Given the description of an element on the screen output the (x, y) to click on. 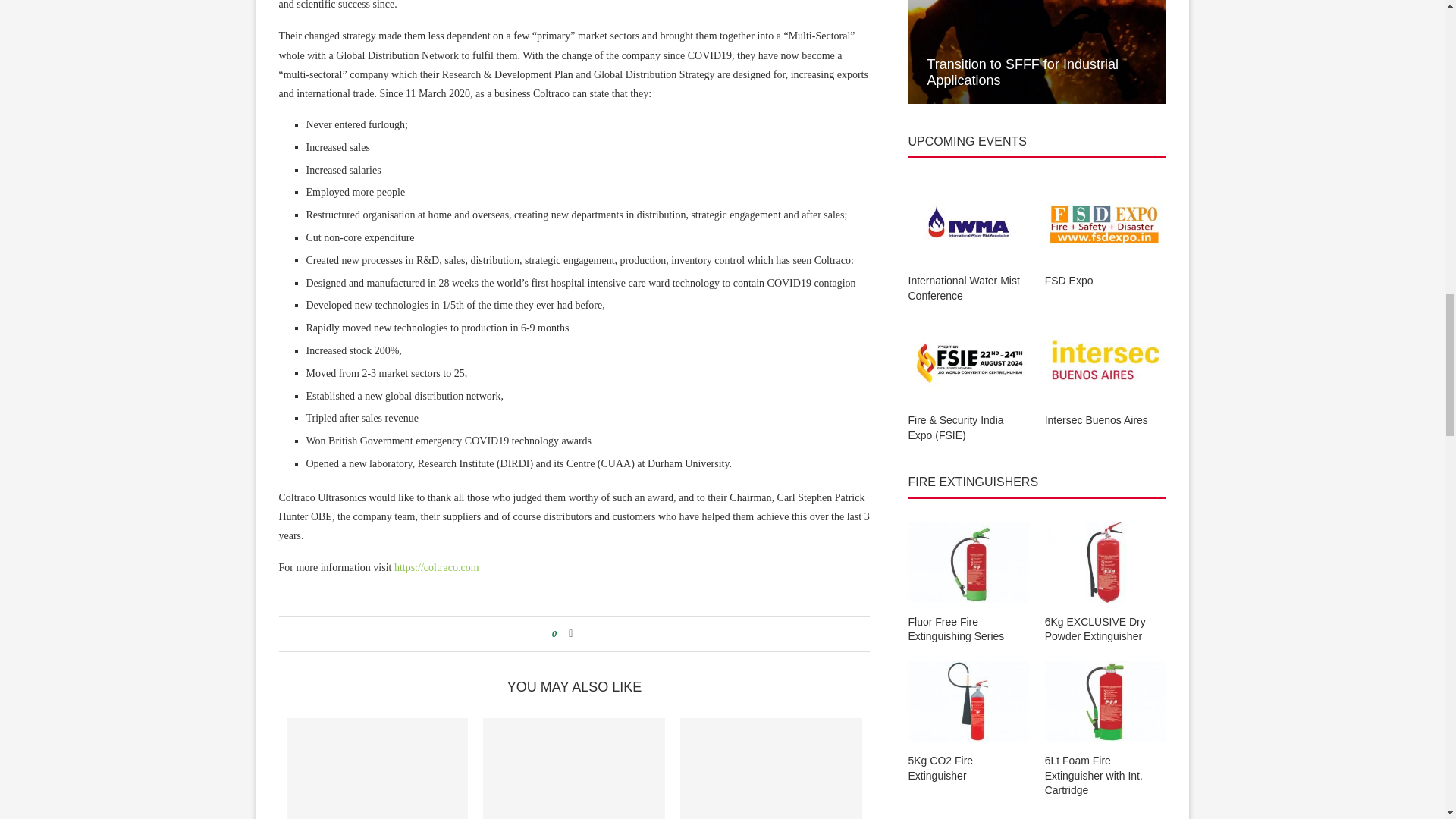
Voice Alarm Leader Anthony Smith Elected Chair (377, 768)
Engaging Communities in Fire Safety (574, 768)
